Given the description of an element on the screen output the (x, y) to click on. 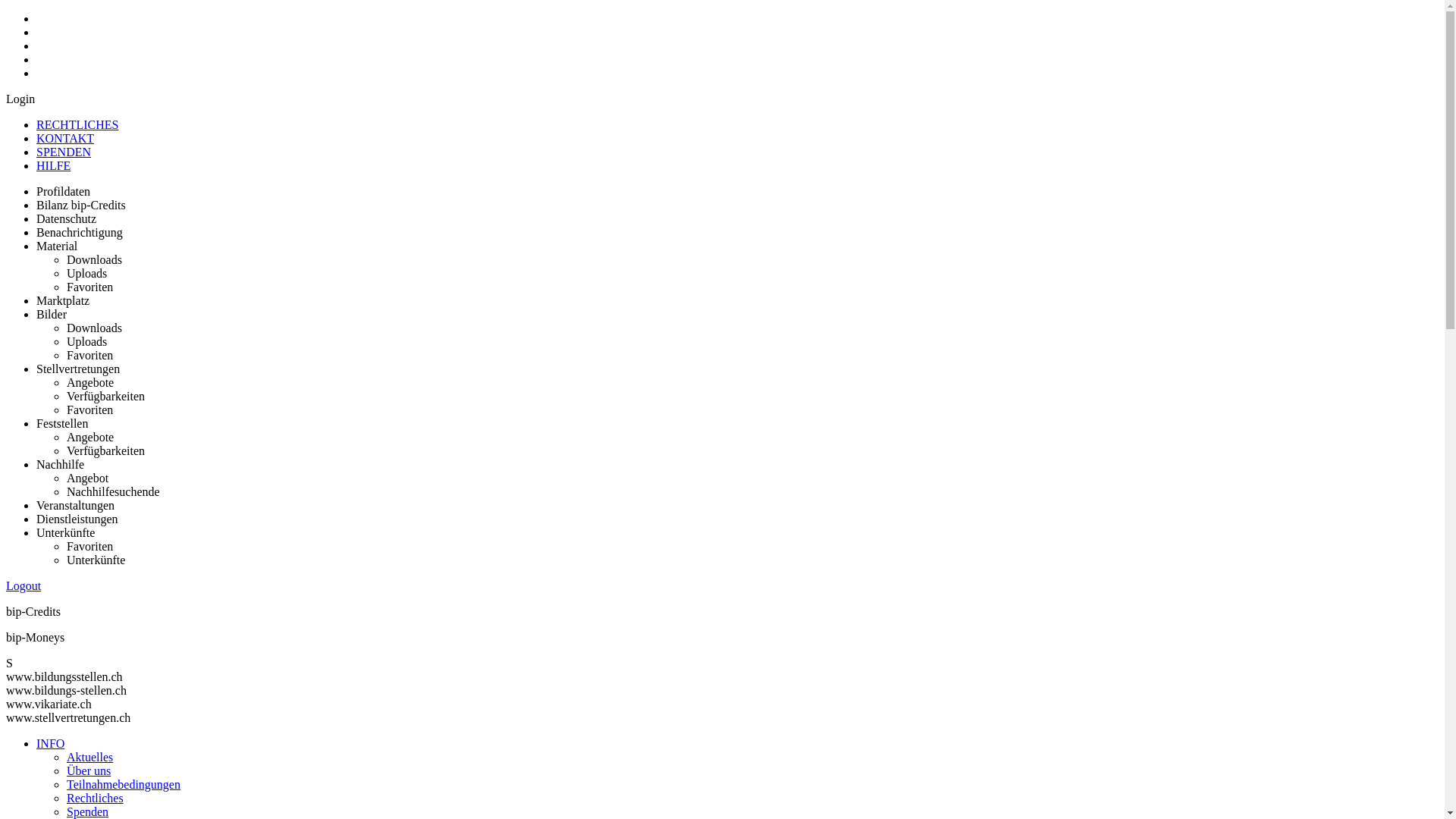
Teilnahmebedingungen Element type: text (123, 784)
INFO Element type: text (50, 743)
Uploads Element type: text (86, 272)
Favoriten Element type: text (89, 409)
KONTAKT Element type: text (65, 137)
Datenschutz Element type: text (66, 218)
Benachrichtigung Element type: text (79, 231)
Uploads Element type: text (86, 341)
Angebot Element type: text (87, 477)
Marktplatz Element type: text (62, 300)
Spenden Element type: text (87, 811)
Profildaten Element type: text (63, 191)
Stellvertretungen Element type: text (77, 368)
Downloads Element type: text (94, 327)
Favoriten Element type: text (89, 286)
Nachhilfe Element type: text (60, 464)
Rechtliches Element type: text (94, 797)
Dienstleistungen Element type: text (77, 518)
Angebote Element type: text (89, 382)
Nachhilfesuchende Element type: text (113, 491)
SPENDEN Element type: text (63, 151)
Veranstaltungen Element type: text (75, 504)
Downloads Element type: text (94, 259)
Feststellen Element type: text (61, 423)
Bilanz bip-Credits Element type: text (80, 204)
Bilder Element type: text (51, 313)
RECHTLICHES Element type: text (77, 124)
HILFE Element type: text (53, 165)
Favoriten Element type: text (89, 545)
Login Element type: text (20, 98)
Aktuelles Element type: text (89, 756)
Favoriten Element type: text (89, 354)
Material Element type: text (56, 245)
Angebote Element type: text (89, 436)
Logout Element type: text (23, 585)
